Given the description of an element on the screen output the (x, y) to click on. 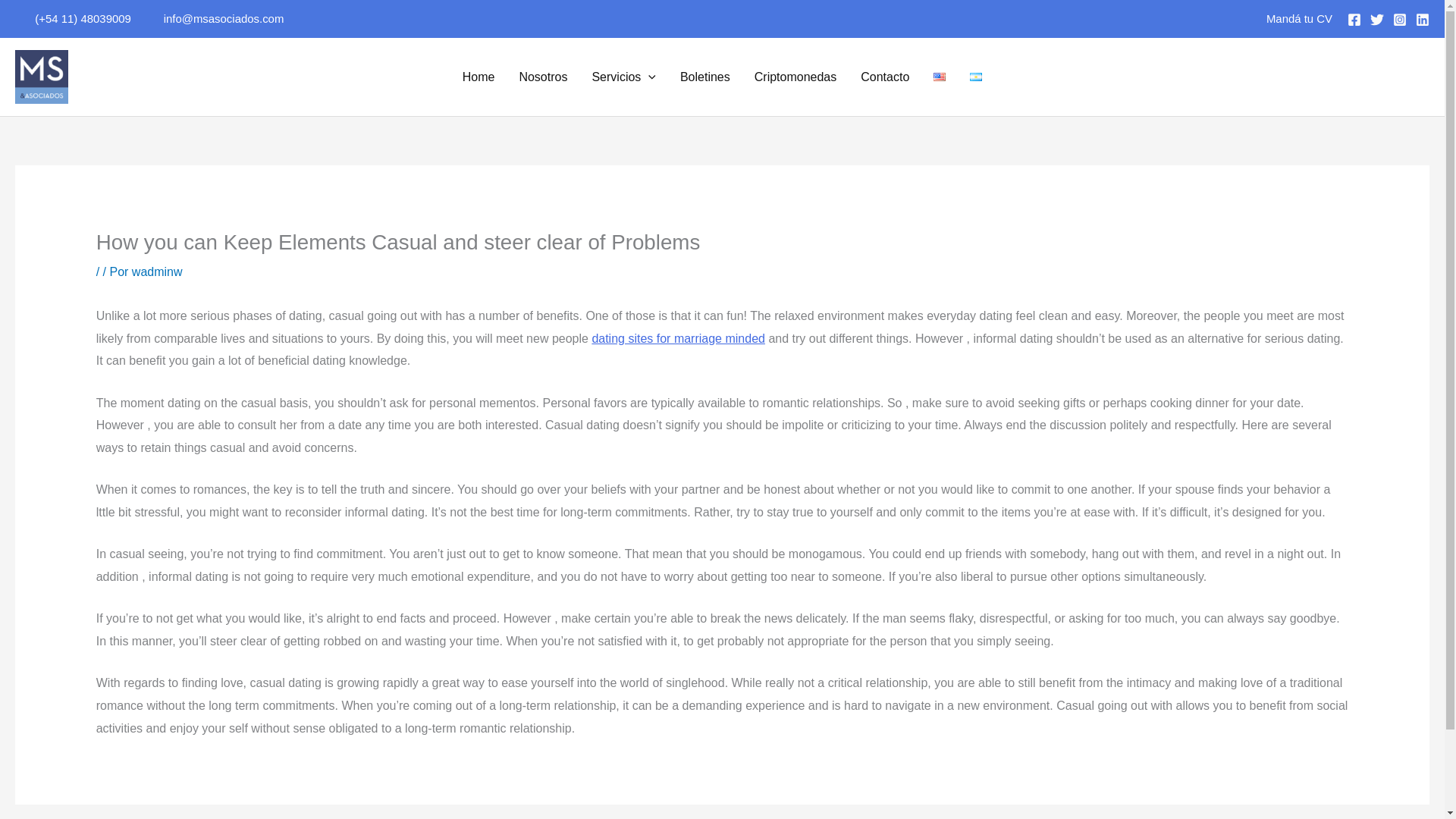
Criptomonedas (795, 76)
wadminw (157, 271)
Nosotros (542, 76)
Boletines (705, 76)
Contacto (884, 76)
Ver todas las entradas de wadminw (157, 271)
Servicios (623, 76)
Home (477, 76)
